Given the description of an element on the screen output the (x, y) to click on. 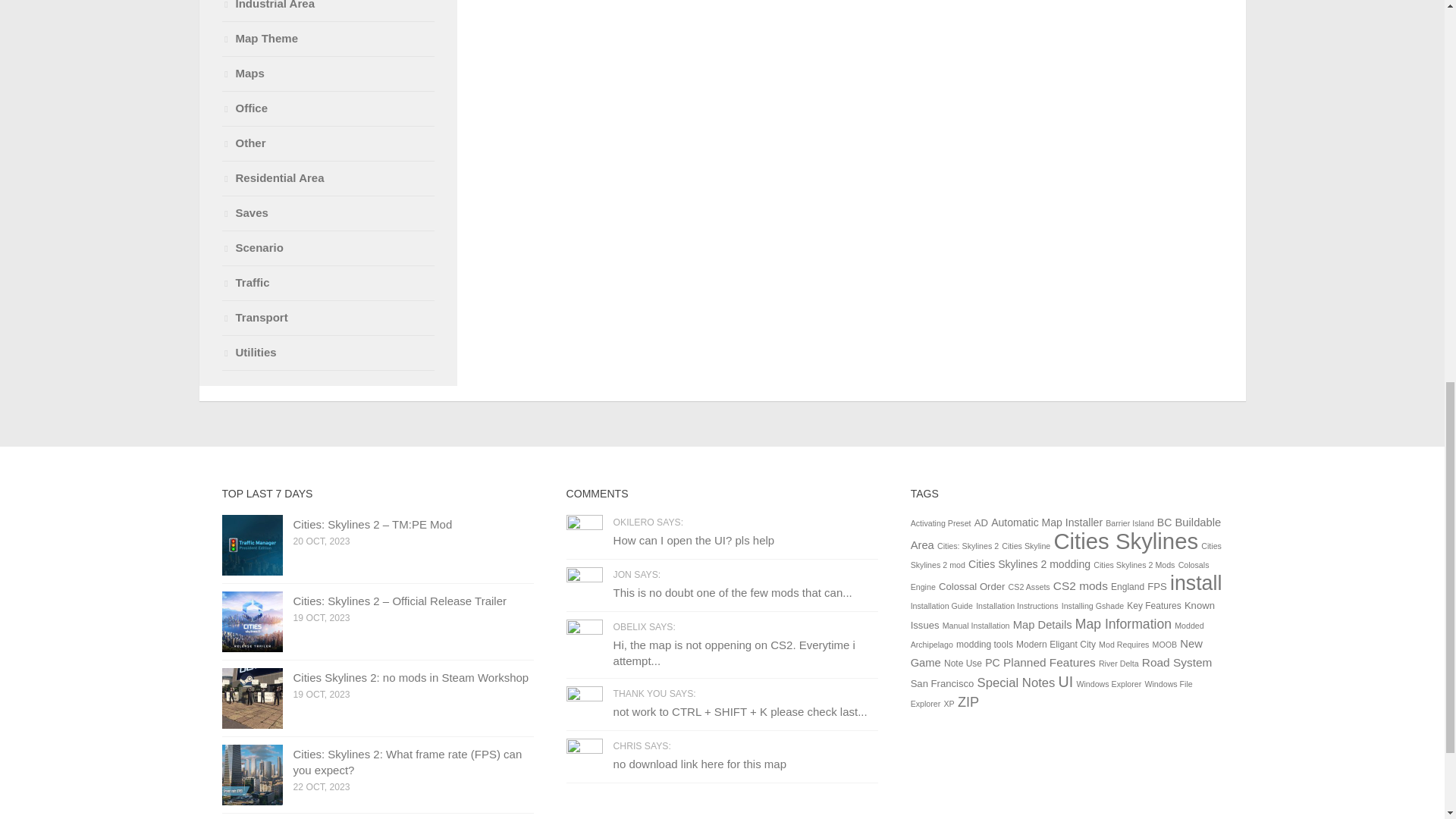
Cities Skylines 2: no mods in Steam Workshop (251, 698)
Cities Skylines 2: no mods in Steam Workshop (410, 676)
